Given the description of an element on the screen output the (x, y) to click on. 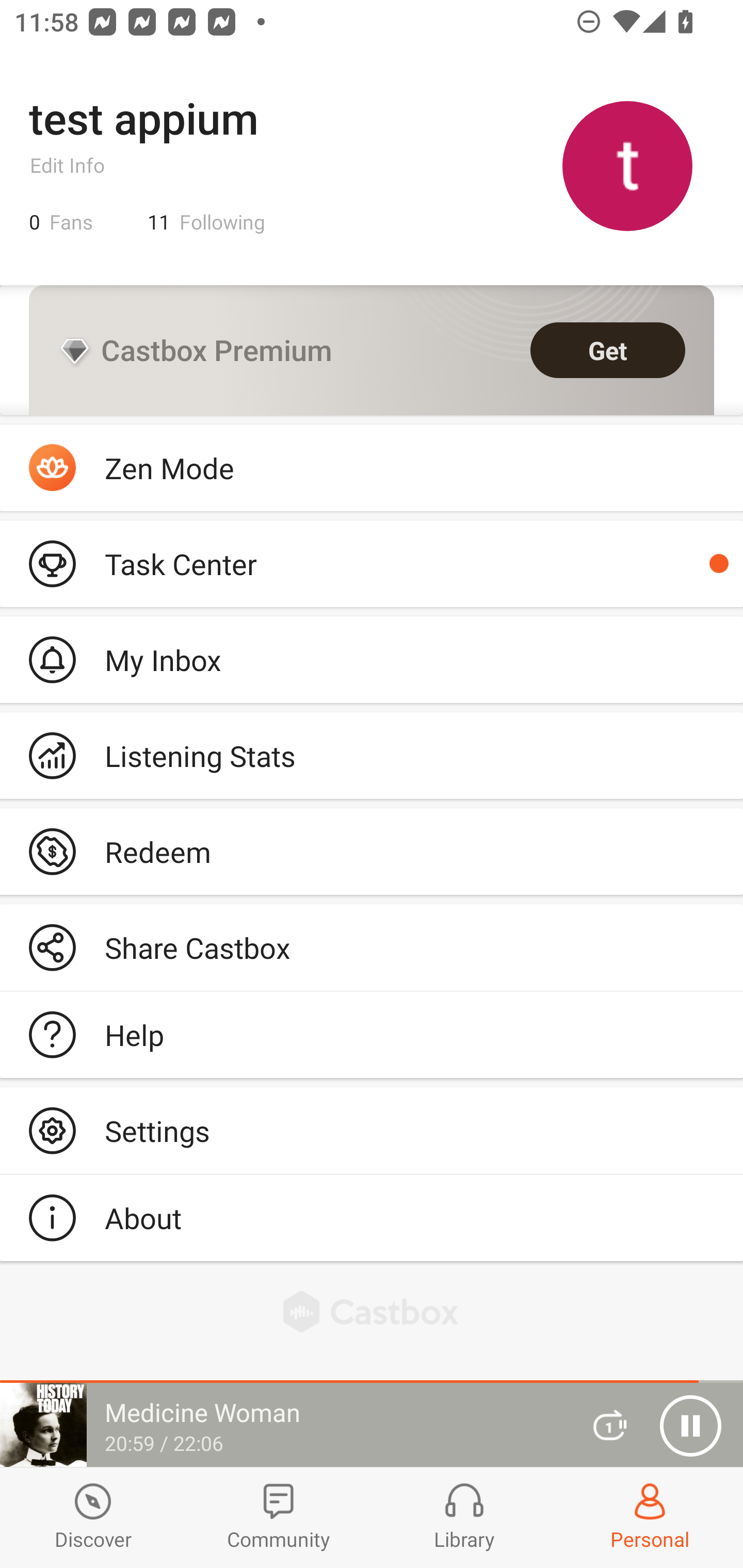
test appium Edit Info 0 Fans 11 Following (371, 165)
0 Fans (60, 221)
11 Following (206, 221)
Castbox Premium Get (371, 350)
Get (607, 350)
Zen Mode (371, 467)
Podcaster  Task Center (371, 563)
 My Inbox (371, 659)
 Listening Stats (371, 755)
 Redeem (371, 851)
 Share Castbox (371, 947)
 Help (371, 1034)
 Settings (371, 1130)
 About (371, 1217)
Medicine Woman 20:59 / 22:06 (283, 1424)
Pause (690, 1425)
Discover (92, 1517)
Community (278, 1517)
Library (464, 1517)
Profiles and Settings Personal (650, 1517)
